Given the description of an element on the screen output the (x, y) to click on. 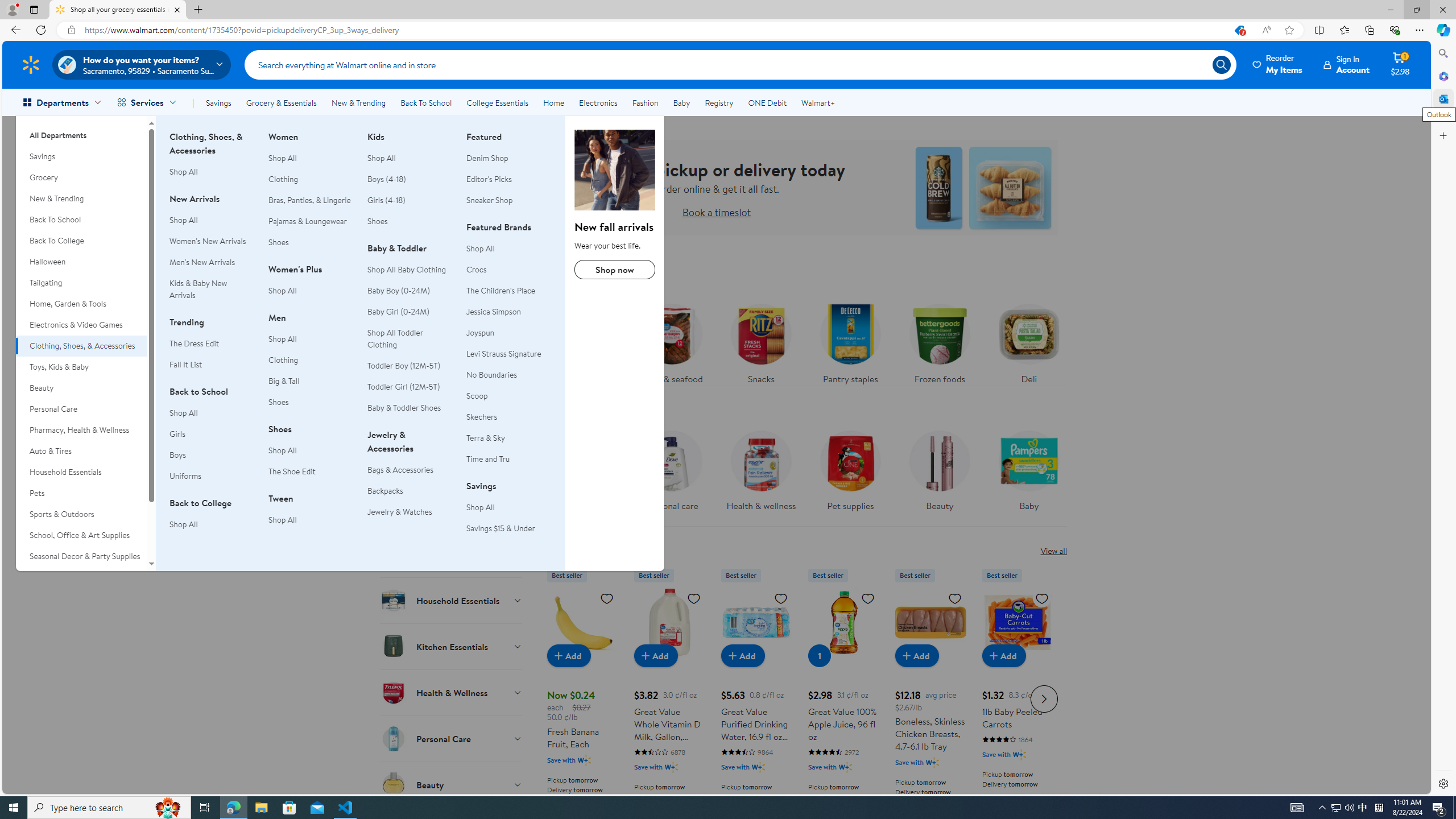
Fresh Banana Fruit, Each (582, 621)
Home, Garden & Tools (81, 303)
Jessica Simpson (493, 311)
Household Essentials (451, 600)
Book a timeslot (716, 211)
Fashion (644, 102)
Shop All (480, 506)
Backpacks (409, 490)
Fall It List (211, 364)
Meat & seafood (671, 340)
Sign In Account (1347, 64)
